Given the description of an element on the screen output the (x, y) to click on. 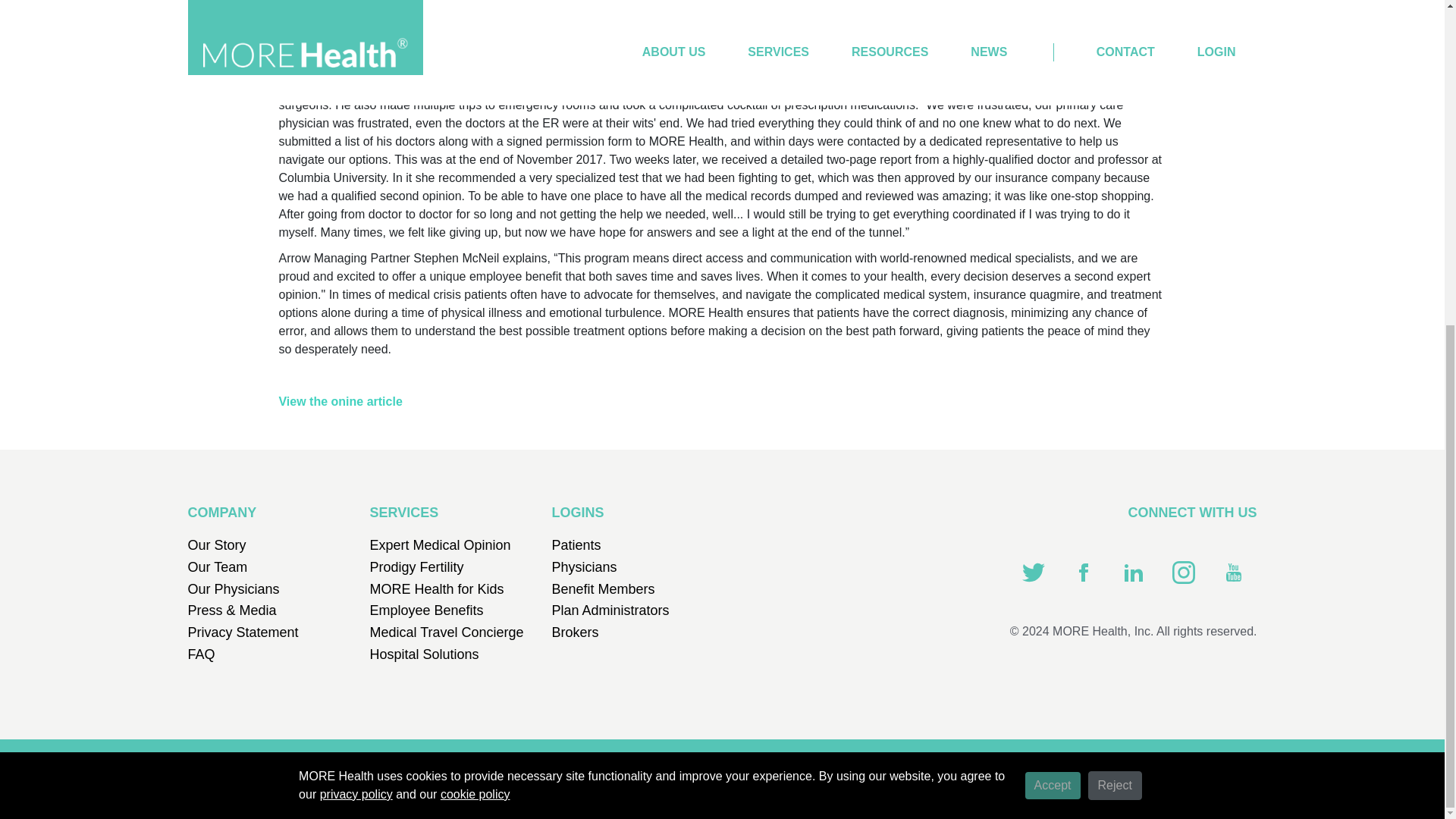
FAQ (201, 654)
Our Physicians (233, 589)
Our Team (217, 566)
Patients (576, 544)
Employee Benefits (426, 610)
Expert Medical Opinion (440, 544)
Hospital Solutions (424, 654)
Physicians (584, 566)
Our Story (216, 544)
Medical Travel Concierge (446, 631)
